Given the description of an element on the screen output the (x, y) to click on. 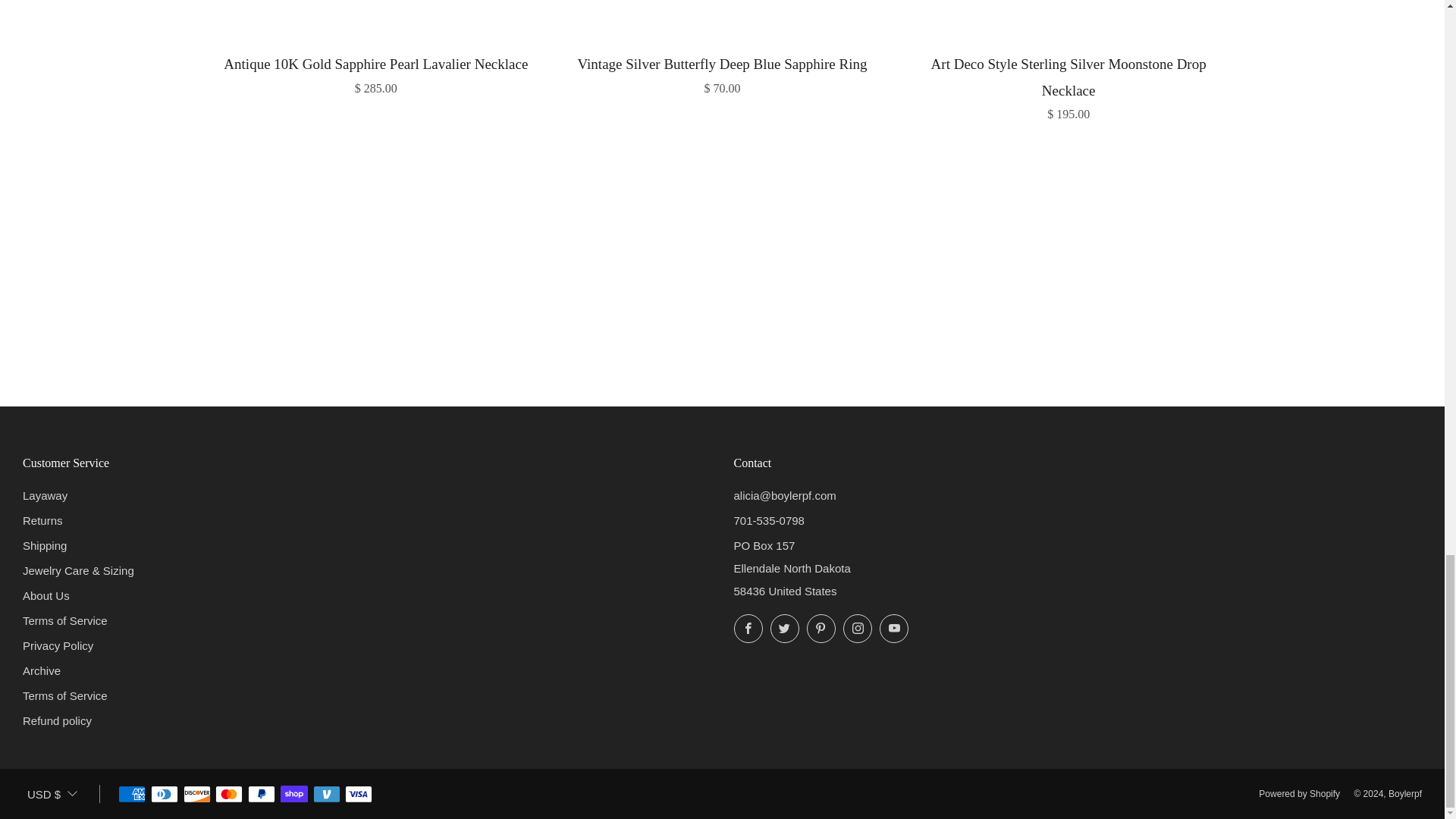
Art Deco Style Sterling Silver Moonstone Drop Necklace (1068, 85)
Vintage Silver Butterfly Deep Blue Sapphire Ring (721, 72)
Antique 10K Gold Sapphire Pearl Lavalier Necklace (376, 72)
